Given the description of an element on the screen output the (x, y) to click on. 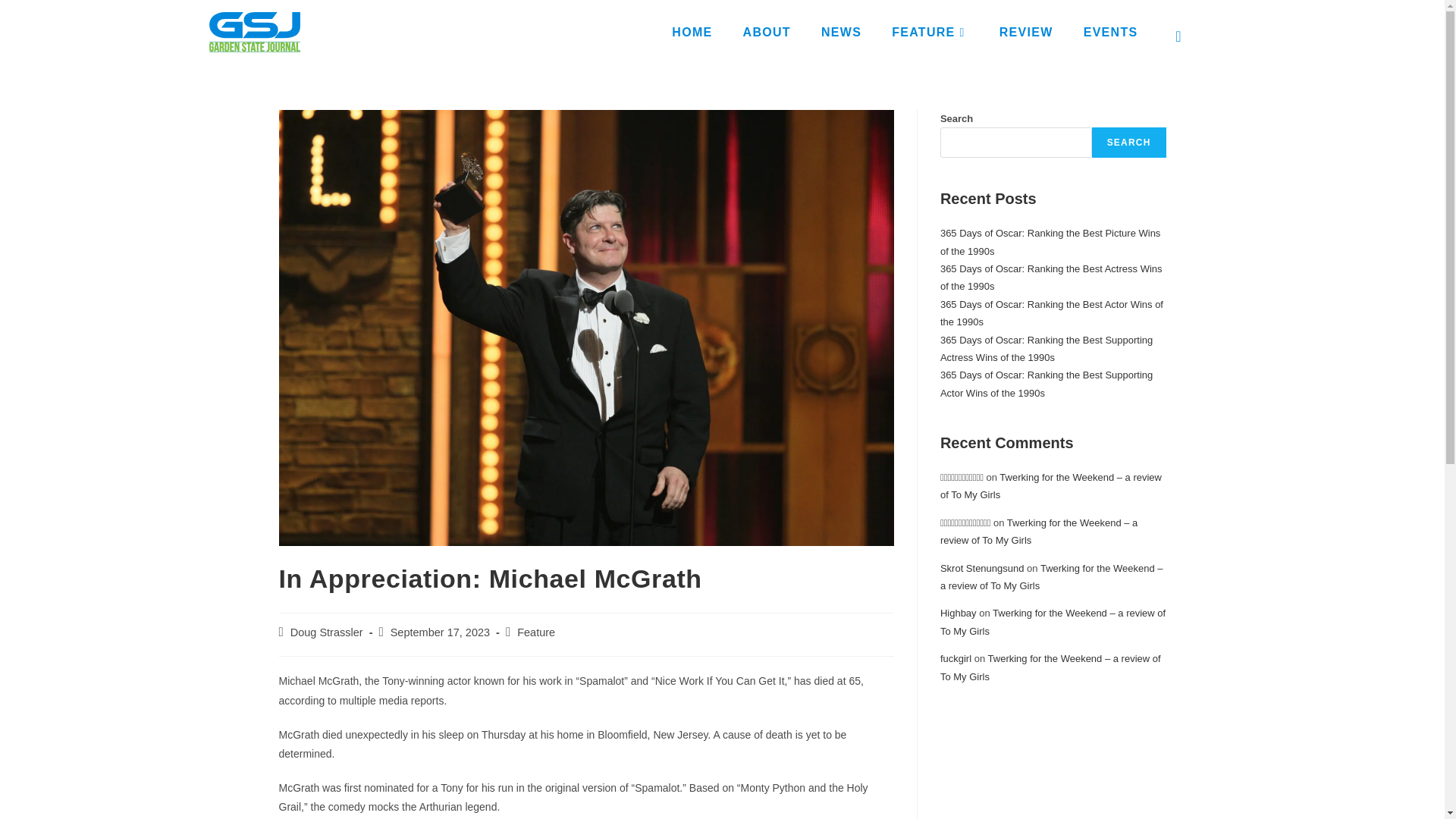
ABOUT (767, 36)
Posts by Doug Strassler (325, 632)
SEARCH (1129, 142)
365 Days of Oscar: Ranking the Best Actor Wins of the 1990s (1051, 312)
NEWS (841, 36)
EVENTS (1103, 36)
REVIEW (1026, 36)
FEATURE (930, 36)
Doug Strassler (325, 632)
Feature (535, 632)
